Given the description of an element on the screen output the (x, y) to click on. 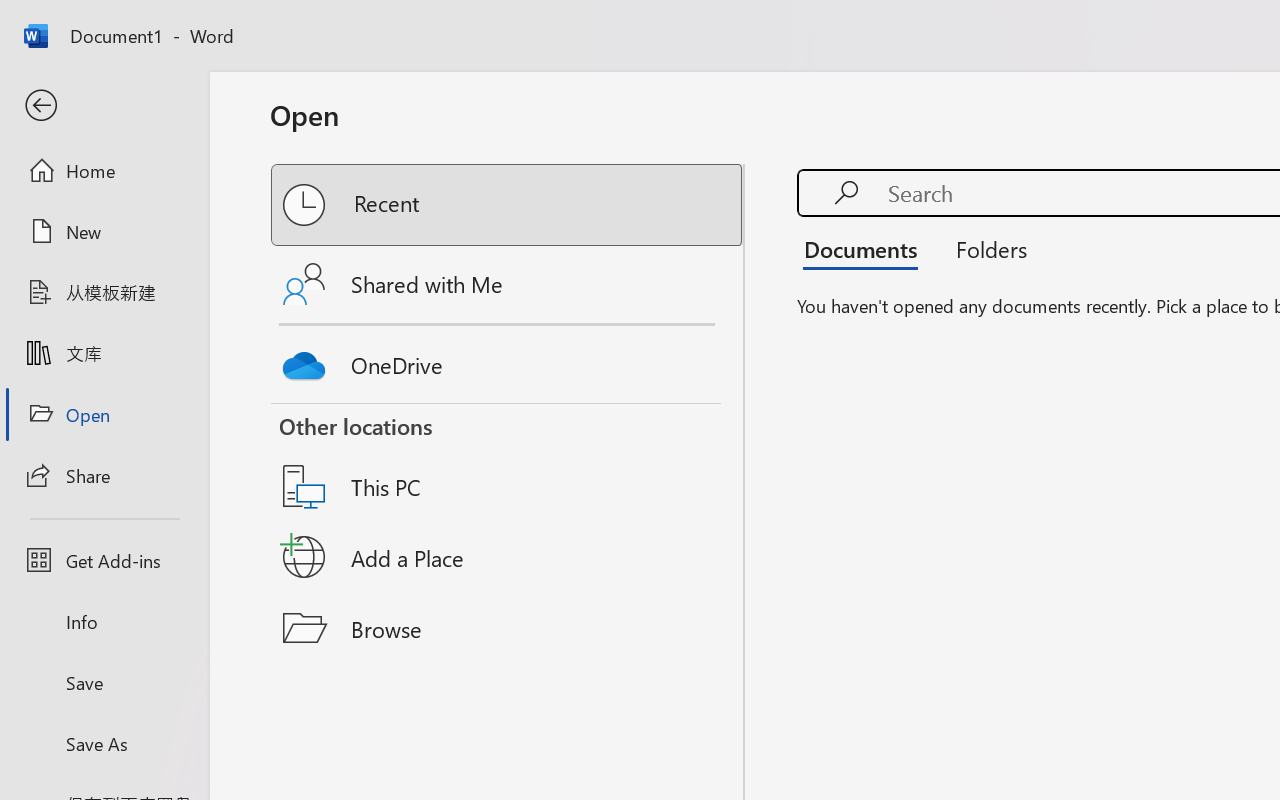
Browse (507, 627)
Add a Place (507, 557)
Get Add-ins (104, 560)
New (104, 231)
